Given the description of an element on the screen output the (x, y) to click on. 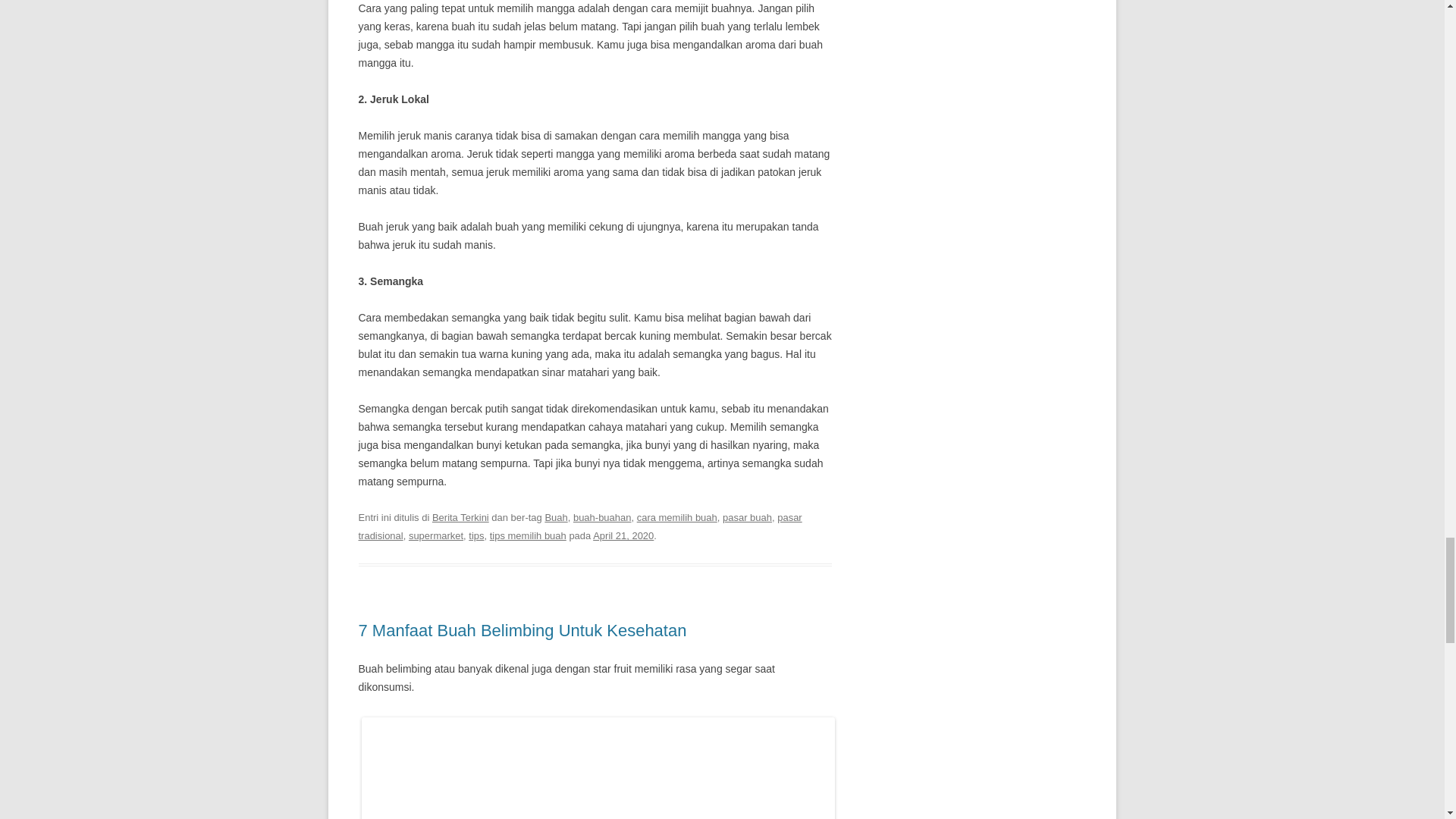
7 Manfaat Buah Belimbing Untuk Kesehatan (521, 629)
pasar tradisional (580, 526)
cara memilih buah (677, 517)
1:10 pm (622, 535)
tips memilih buah (527, 535)
supermarket (436, 535)
pasar buah (746, 517)
tips (475, 535)
buah-buahan (602, 517)
Berita Terkini (460, 517)
Buah (555, 517)
April 21, 2020 (622, 535)
